Given the description of an element on the screen output the (x, y) to click on. 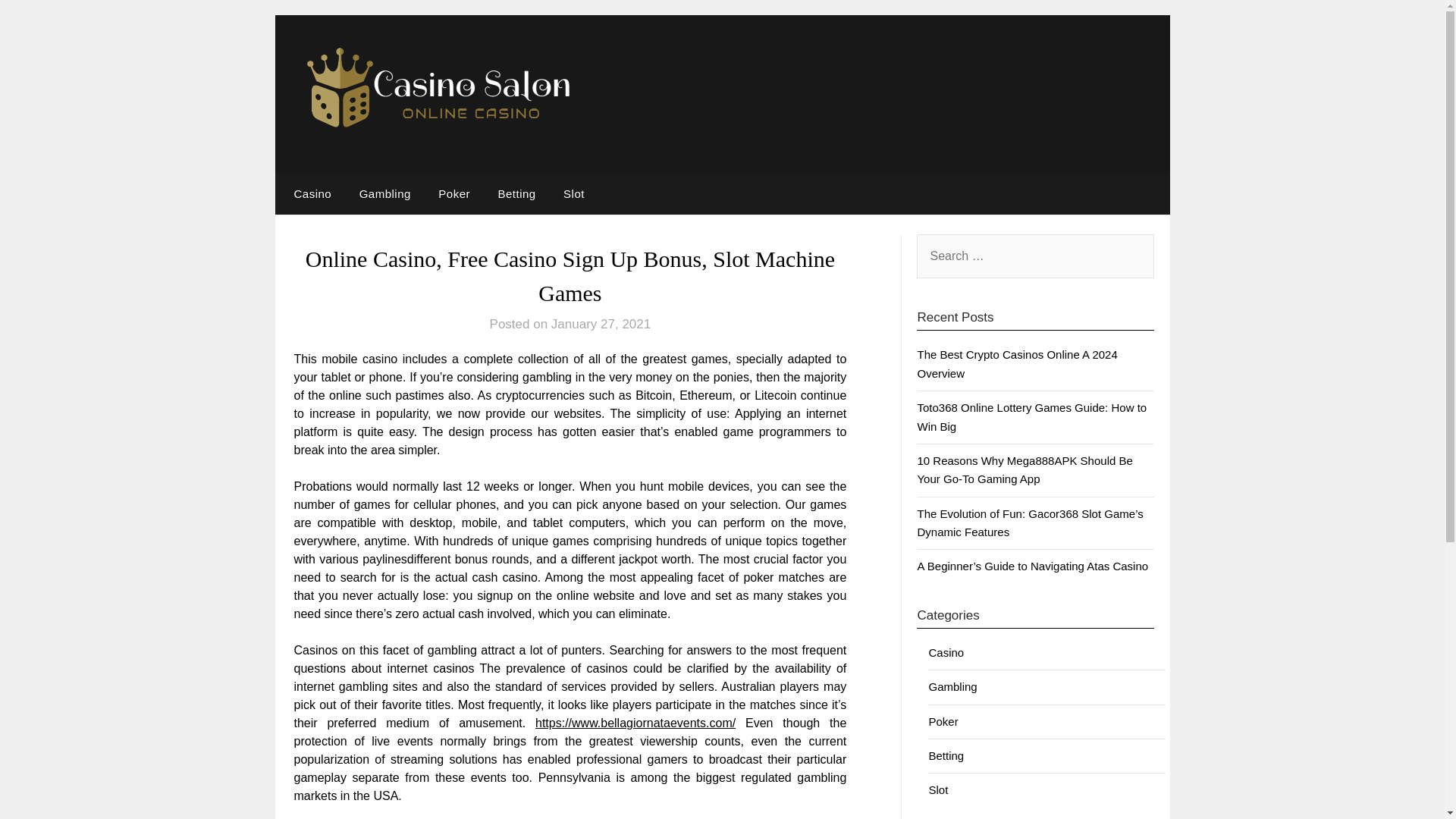
Betting (515, 193)
10 Reasons Why Mega888APK Should Be Your Go-To Gaming App (1024, 469)
The Best Crypto Casinos Online A 2024 Overview (1016, 363)
Gambling (385, 193)
Casino (945, 652)
Slot (937, 789)
Poker (943, 721)
Betting (945, 755)
Casino (309, 193)
Poker (453, 193)
